Given the description of an element on the screen output the (x, y) to click on. 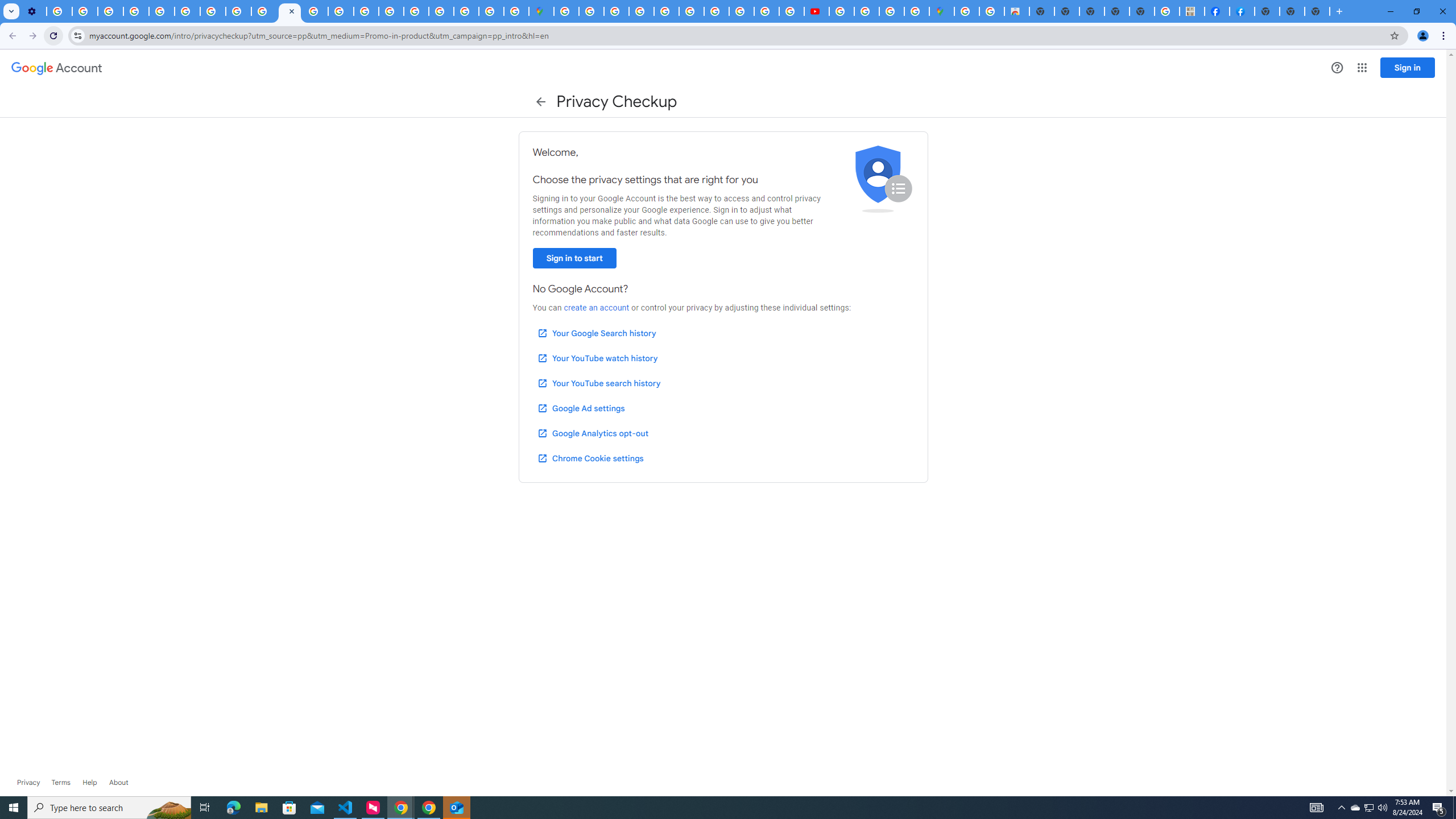
https://scholar.google.com/ (315, 11)
Your Google Search history (596, 332)
Chrome Web Store - Shopping (1016, 11)
YouTube (186, 11)
Sign Up for Facebook (1241, 11)
